Given the description of an element on the screen output the (x, y) to click on. 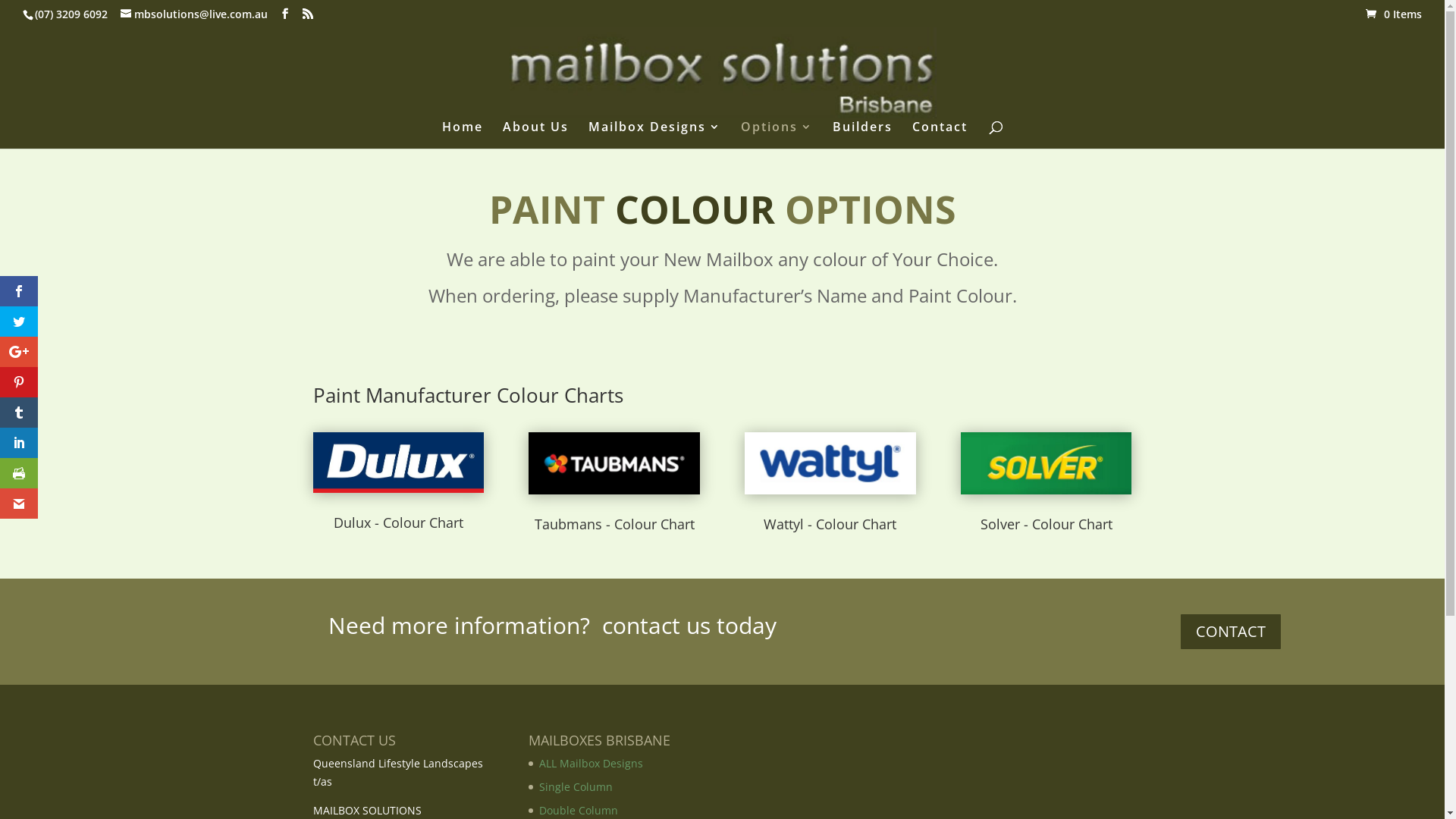
Double Column Element type: text (578, 810)
Single Column Element type: text (575, 786)
Solver - Colour Chart Element type: text (1046, 523)
Mailbox Designs Element type: text (654, 134)
Contact Element type: text (939, 134)
Home Element type: text (462, 134)
ALL Mailbox Designs Element type: text (591, 763)
Builders Element type: text (862, 134)
0 Items Element type: text (1393, 13)
mbsolutions@live.com.au Element type: text (193, 13)
Options Element type: text (776, 134)
Taubmans - Colour Chart Element type: text (614, 523)
Dulux - Colour Chart Element type: text (398, 522)
Wattyl - Colour Chart Element type: text (829, 523)
About Us Element type: text (535, 134)
CONTACT Element type: text (1230, 631)
